Given the description of an element on the screen output the (x, y) to click on. 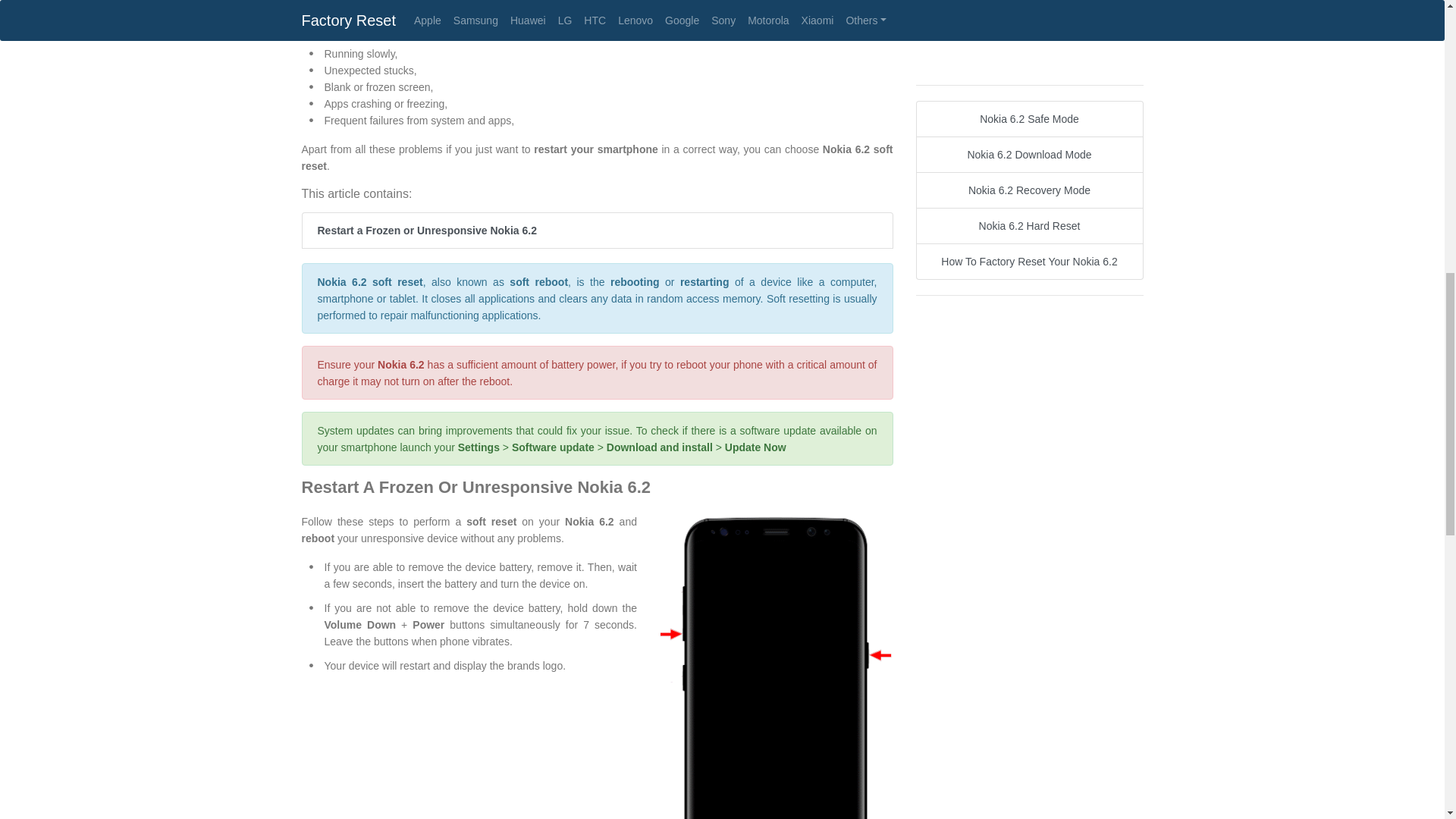
Nokia 6.2 Recovery Mode (1028, 189)
Nokia 6.2 Recovery Mode (1028, 189)
How To Factory Reset Your Nokia 6.2 (1028, 261)
How To Factory Reset Your Nokia 6.2 (1028, 261)
Nokia 6.2 Download Mode (1028, 154)
Nokia 6.2 Hard Reset (1028, 226)
Nokia 6.2 Safe Mode (1028, 118)
Nokia 6.2 Safe Mode (1028, 118)
Restart a Frozen or Unresponsive Nokia 6.2 (597, 230)
Nokia 6.2 Download Mode (1028, 154)
